Given the description of an element on the screen output the (x, y) to click on. 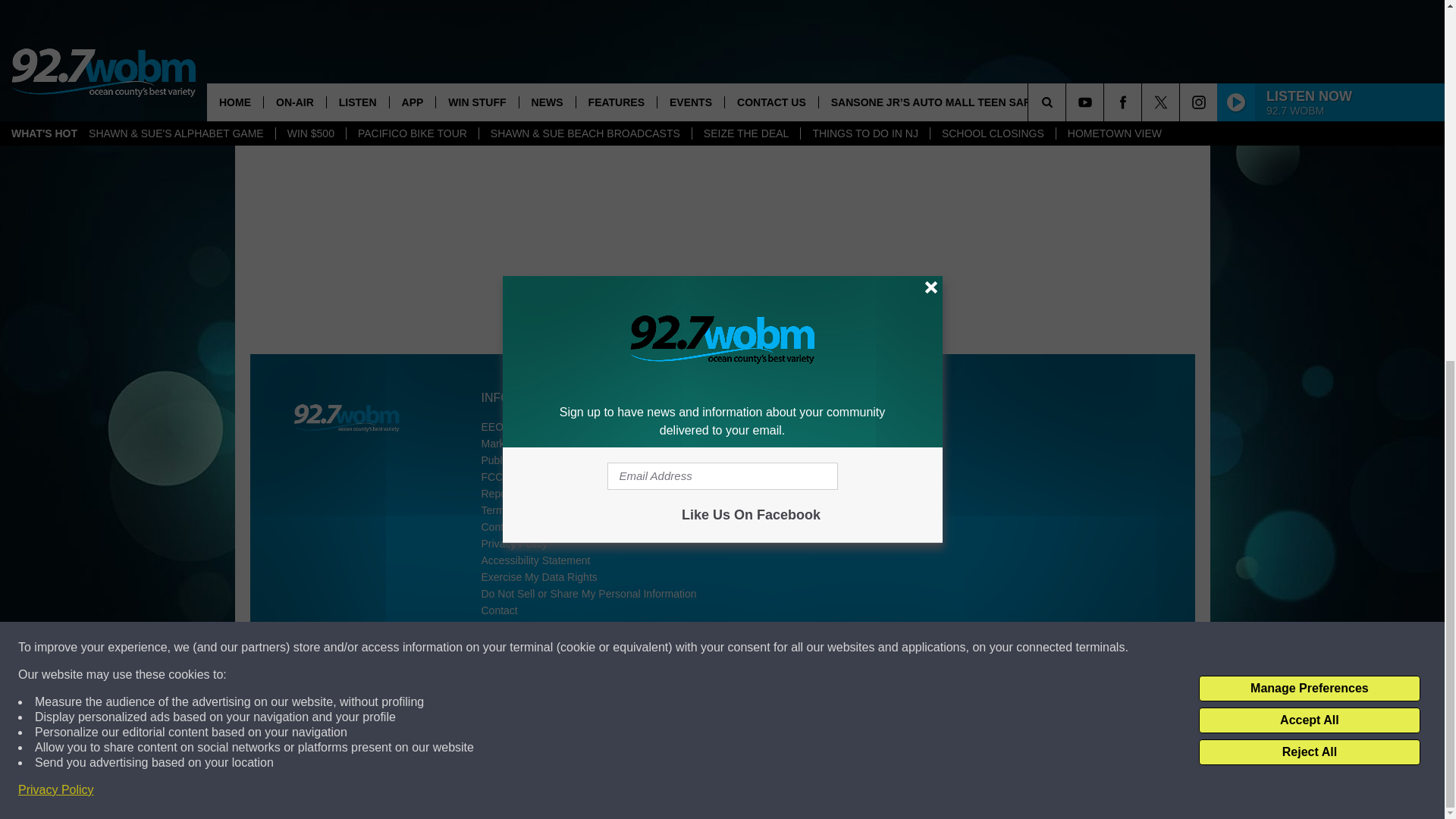
Manage Preferences (1309, 47)
Privacy Policy (55, 149)
Accept All (1309, 79)
Reject All (1309, 111)
